Given the description of an element on the screen output the (x, y) to click on. 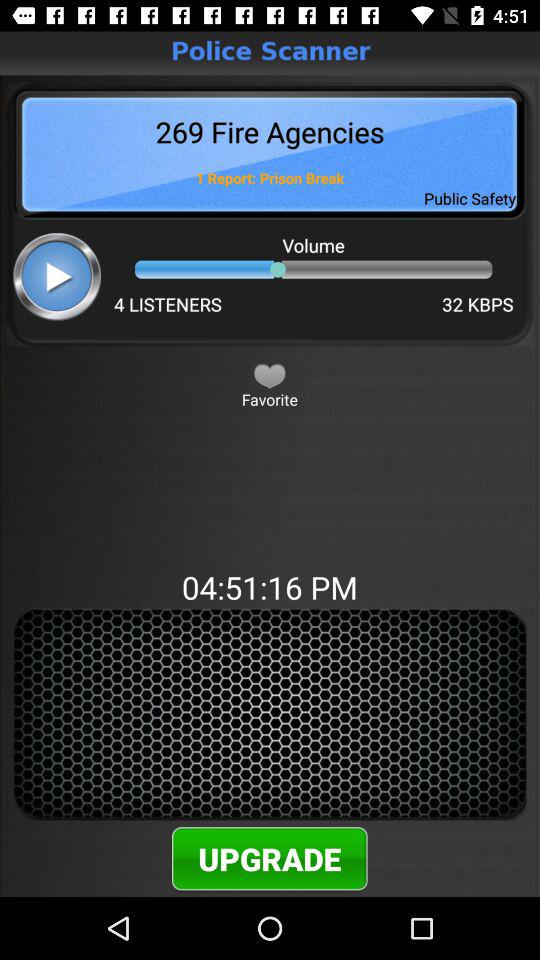
play (56, 276)
